Given the description of an element on the screen output the (x, y) to click on. 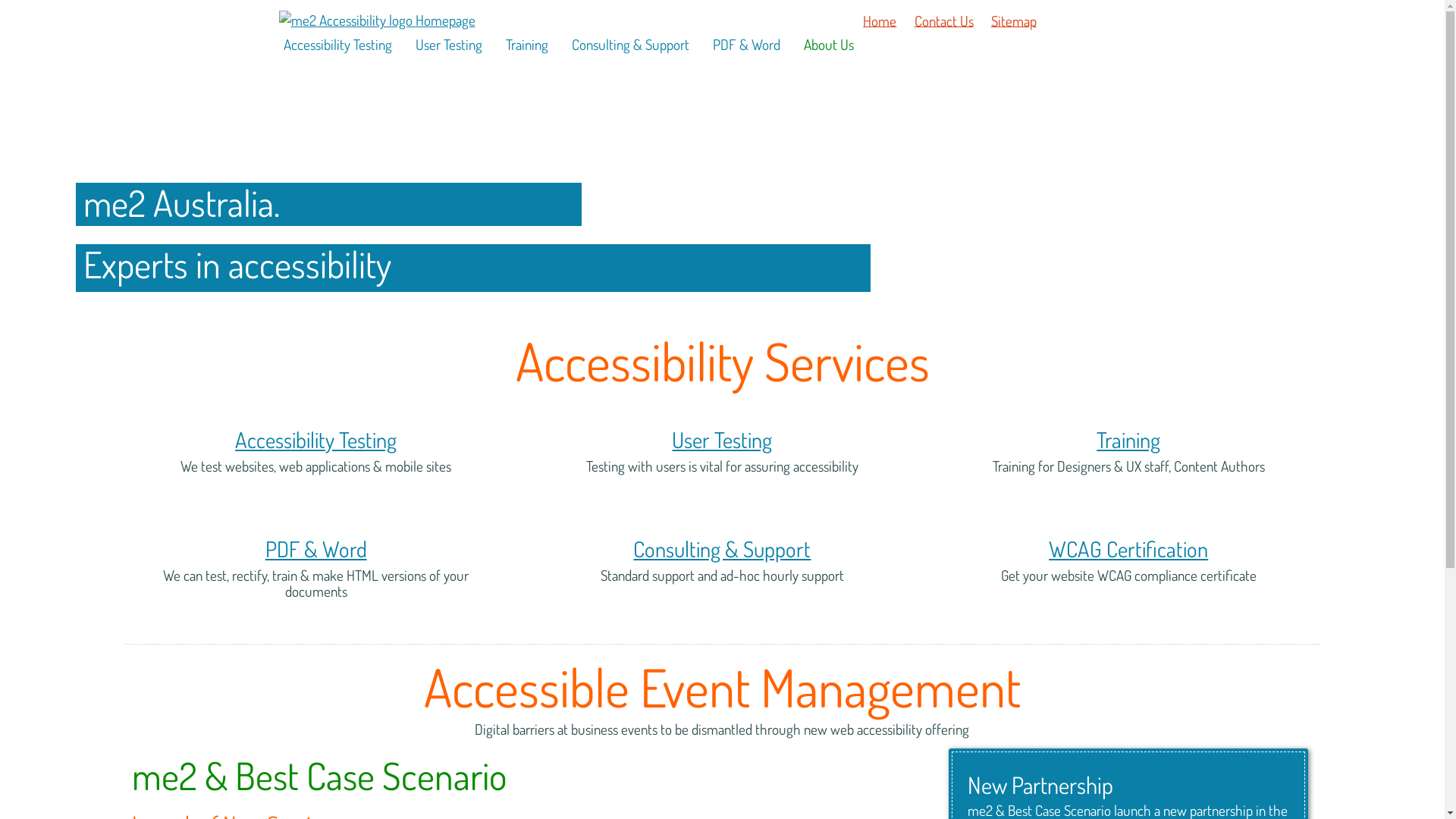
Contact Us Element type: text (943, 20)
Home Element type: text (879, 20)
User Testing Element type: text (444, 44)
PDF & Word Element type: text (316, 548)
Training Element type: text (522, 44)
Accessibility Testing Element type: text (315, 439)
About Us Element type: text (824, 44)
PDF & Word Element type: text (742, 44)
Sitemap Element type: text (1013, 20)
Accessibility Testing Element type: text (333, 44)
User Testing Element type: text (721, 439)
Consulting & Support Element type: text (721, 548)
WCAG Certification Element type: text (1128, 548)
Consulting & Support Element type: text (626, 44)
Training Element type: text (1128, 439)
